Given the description of an element on the screen output the (x, y) to click on. 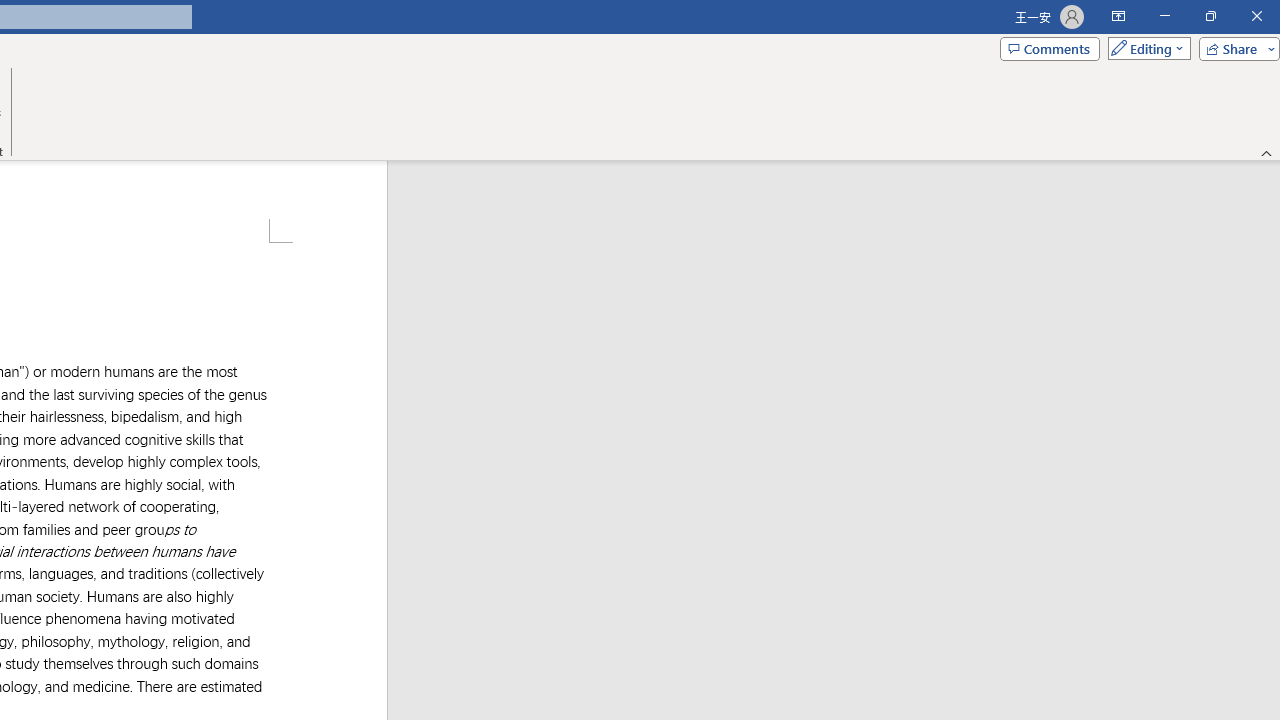
Restore Down (1210, 16)
Collapse the Ribbon (1267, 152)
Ribbon Display Options (1118, 16)
Editing (1144, 47)
Share (1235, 48)
Minimize (1164, 16)
Comments (1049, 48)
